Given the description of an element on the screen output the (x, y) to click on. 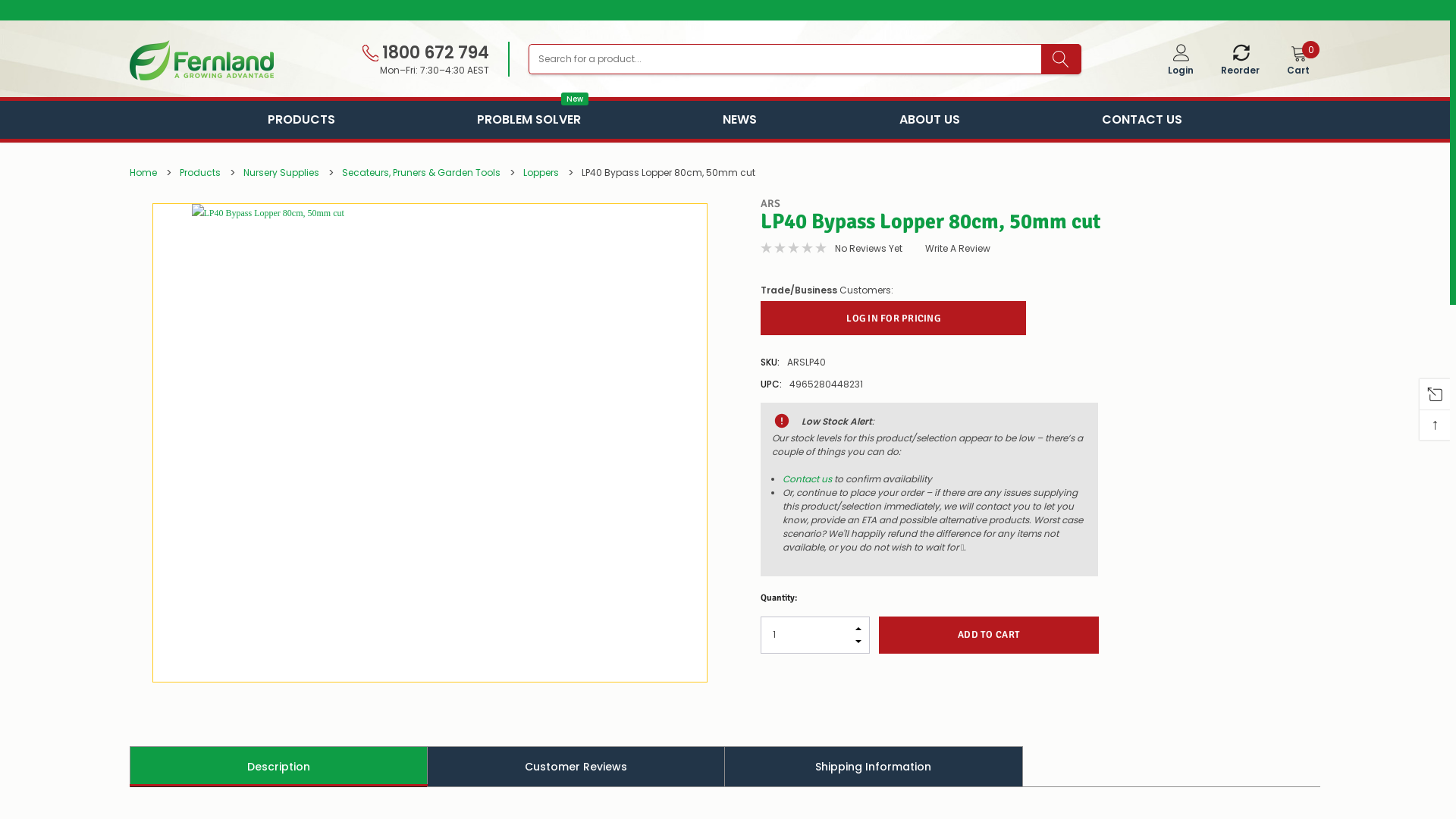
Shipping Information Element type: text (873, 765)
0
Cart Element type: text (1297, 62)
NEWS Element type: text (739, 119)
Contact us Element type: text (806, 477)
LOG IN FOR PRICING Element type: text (893, 318)
1800 672 794 Element type: text (424, 52)
LP40 Bypass Lopper 80cm, 50mm cut Element type: text (668, 172)
Home Element type: text (142, 172)
Description Element type: text (278, 765)
Add to Cart Element type: text (988, 633)
PROBLEM SOLVER
New Element type: text (528, 119)
INCREASE QUANTITY: Element type: text (858, 624)
LP40 Bypass Lopper 80cm, 50mm cut Element type: hover (429, 442)
Login Element type: text (1180, 62)
DECREASE QUANTITY: Element type: text (858, 643)
Loppers Element type: text (540, 172)
PRODUCTS Element type: text (301, 119)
Secateurs, Pruners & Garden Tools Element type: text (421, 172)
CONTACT US Element type: text (1141, 119)
Write A Review Element type: text (957, 247)
Reorder Element type: text (1239, 62)
ARS Element type: text (770, 203)
Customer Reviews Element type: text (575, 765)
Write A Review Element type: text (957, 248)
Nursery Supplies Element type: text (281, 172)
Fernland Element type: hover (201, 60)
Products Element type: text (199, 172)
ABOUT US Element type: text (929, 119)
